Given the description of an element on the screen output the (x, y) to click on. 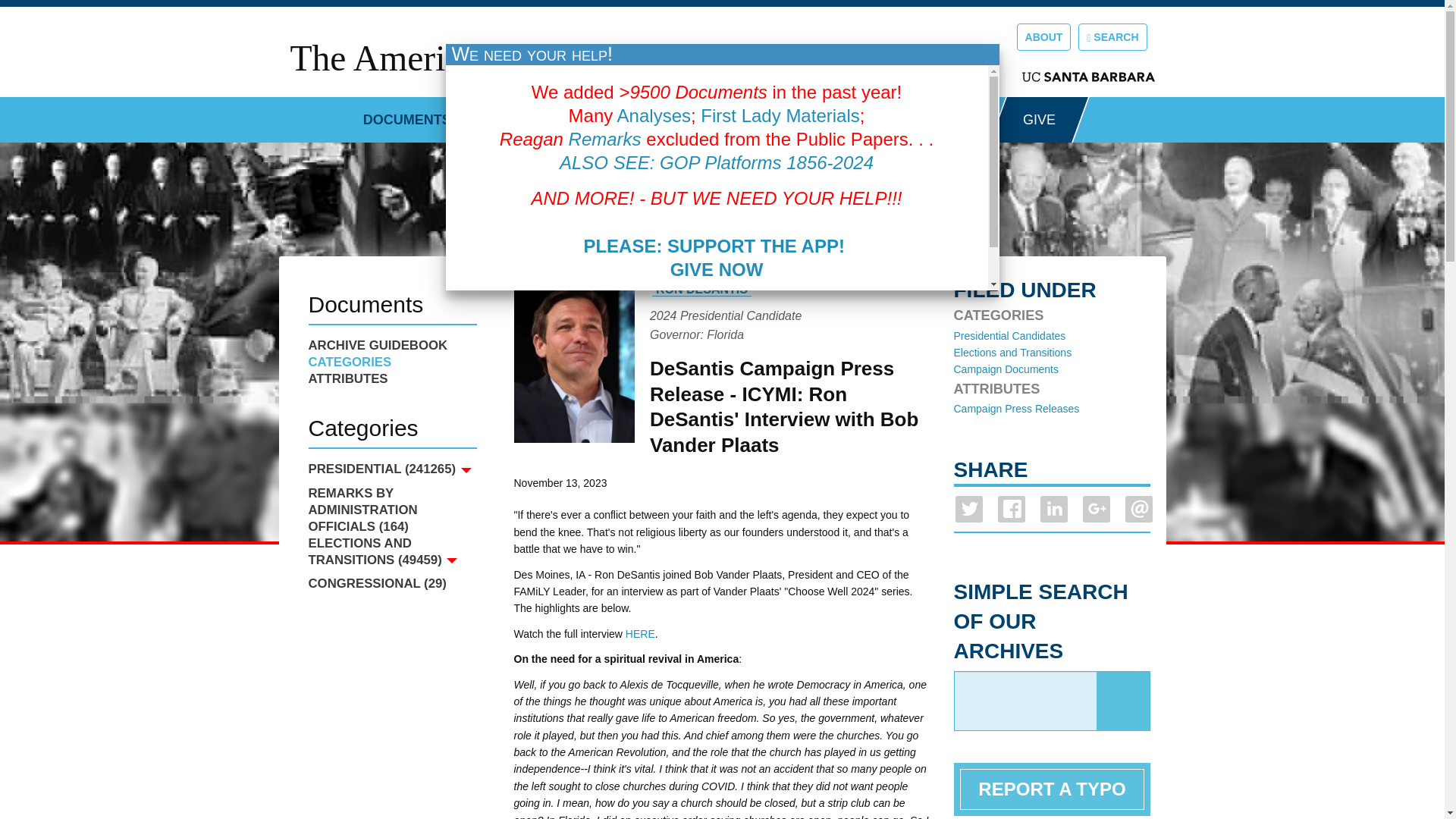
CATEGORIES (391, 362)
GIVE (1038, 119)
ATTRIBUTES (391, 379)
ABOUT (1043, 36)
STATISTICS (530, 113)
PRESIDENTS (800, 113)
ARCHIVE GUIDEBOOK (391, 345)
The American Presidency Project (531, 57)
DOCUMENTS (406, 113)
